Given the description of an element on the screen output the (x, y) to click on. 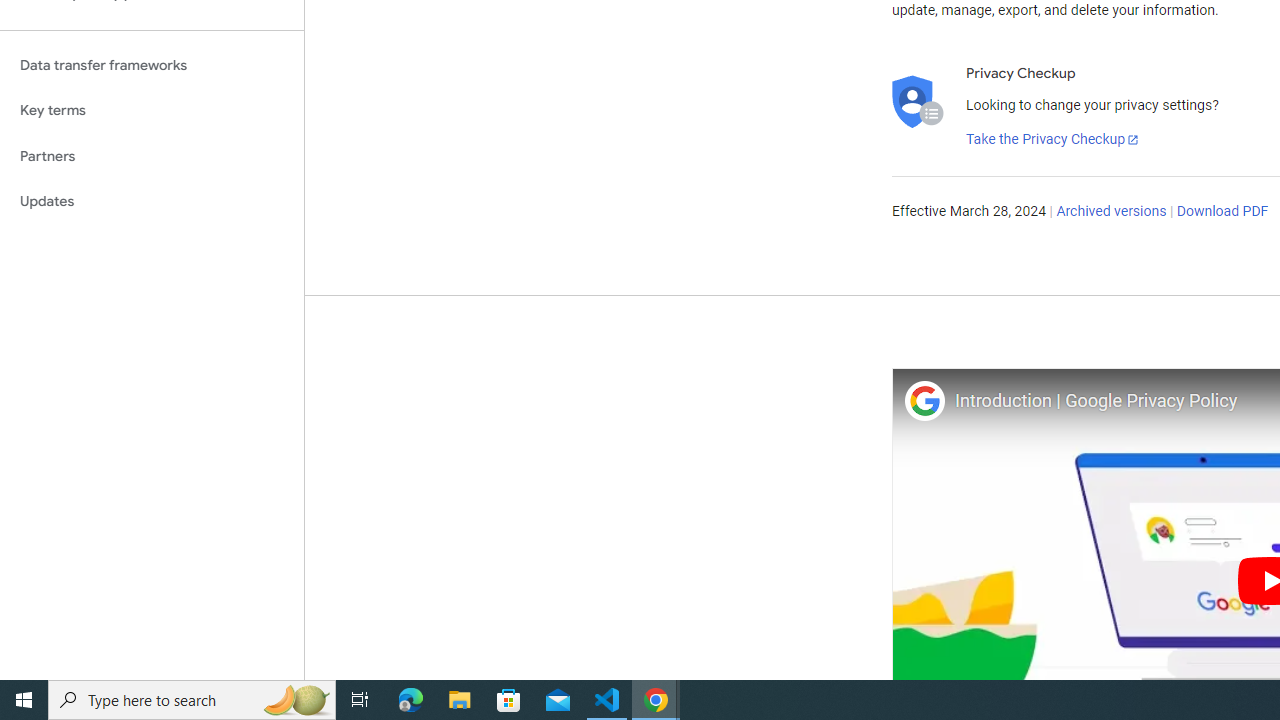
Photo image of Google (924, 400)
Archived versions (1111, 212)
Take the Privacy Checkup (1053, 140)
Download PDF (1222, 212)
